Given the description of an element on the screen output the (x, y) to click on. 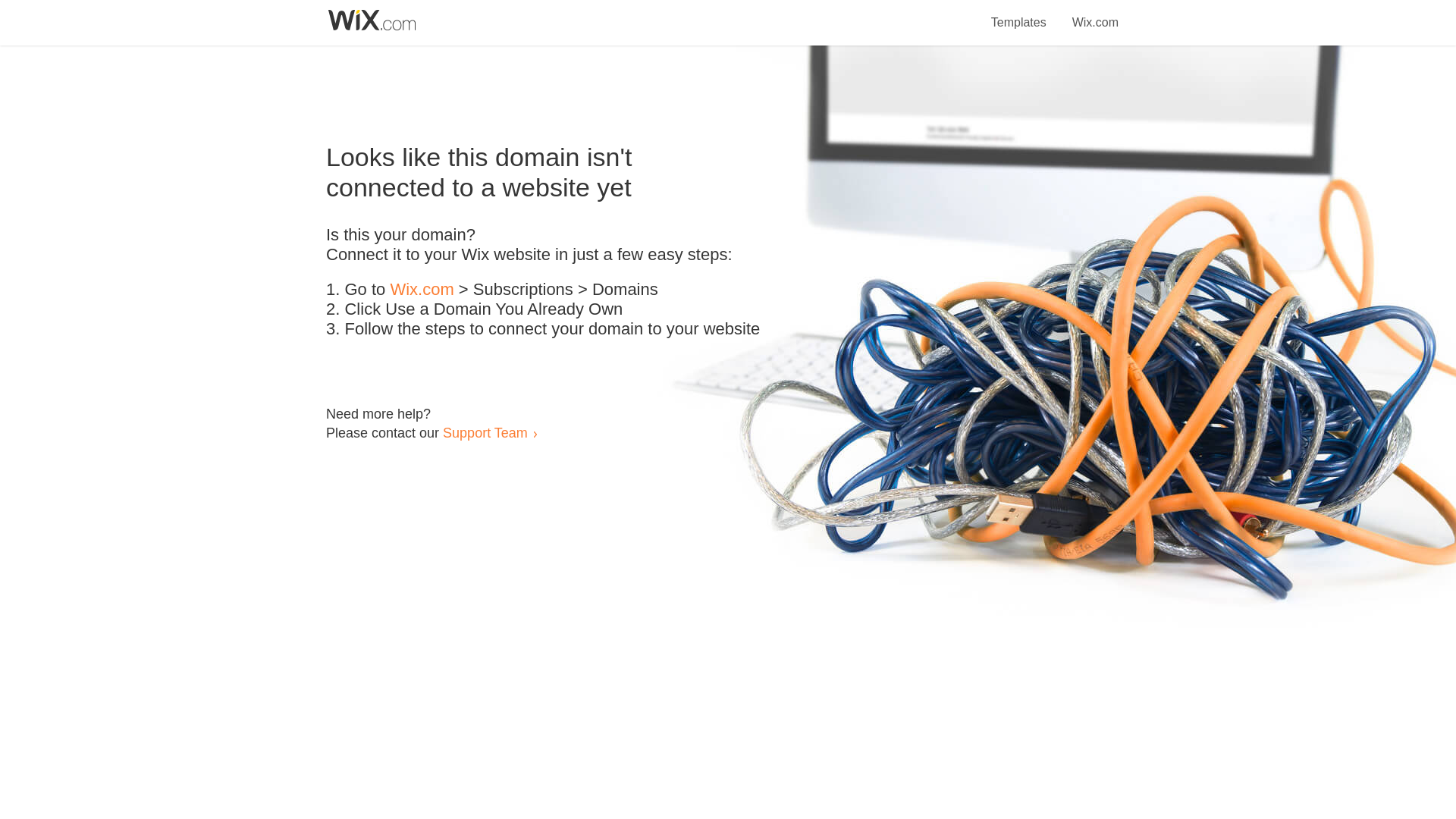
Support Team (484, 432)
Wix.com (421, 289)
Templates (1018, 14)
Wix.com (1095, 14)
